Given the description of an element on the screen output the (x, y) to click on. 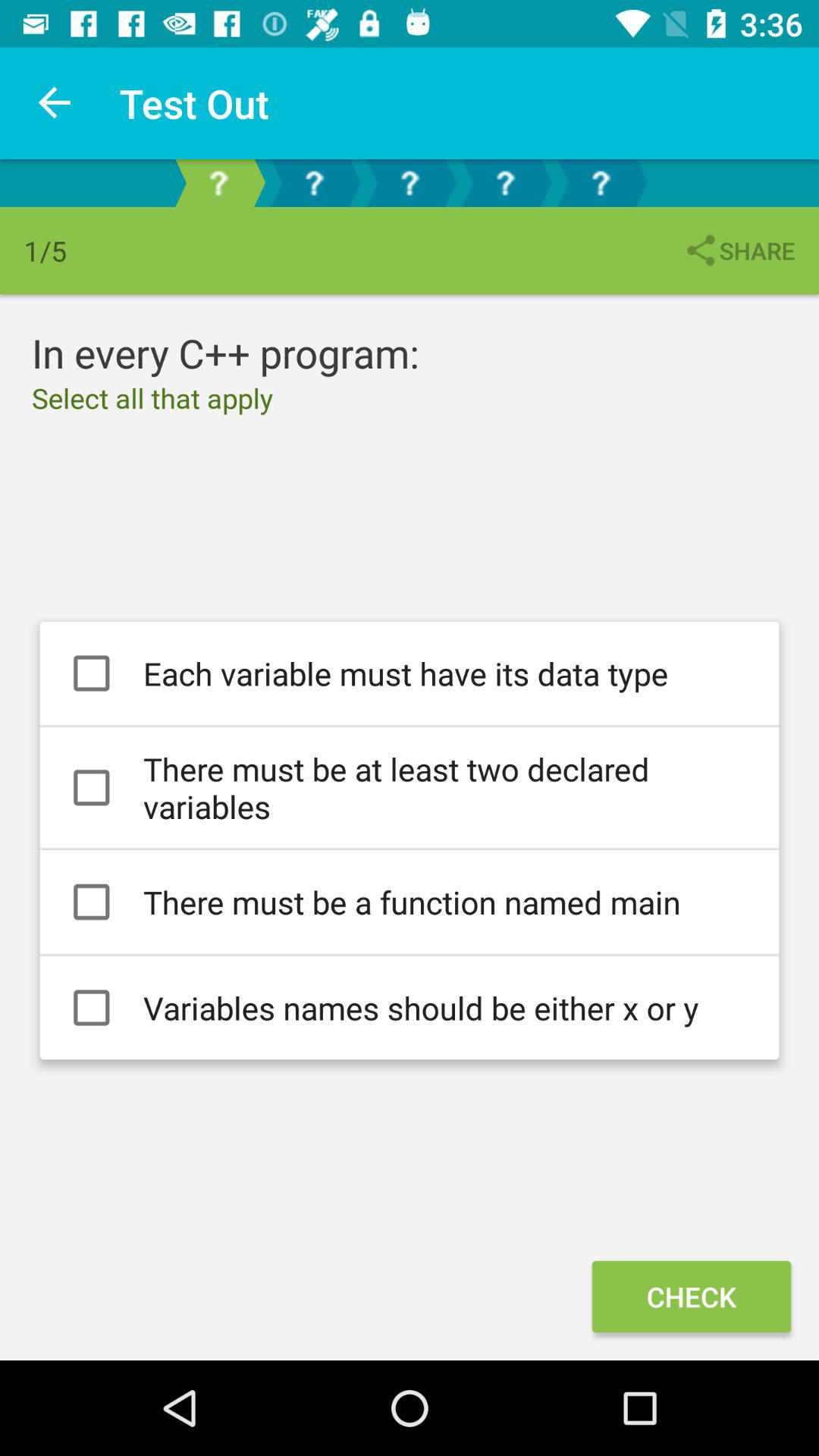
skip to 4th question (504, 183)
